Given the description of an element on the screen output the (x, y) to click on. 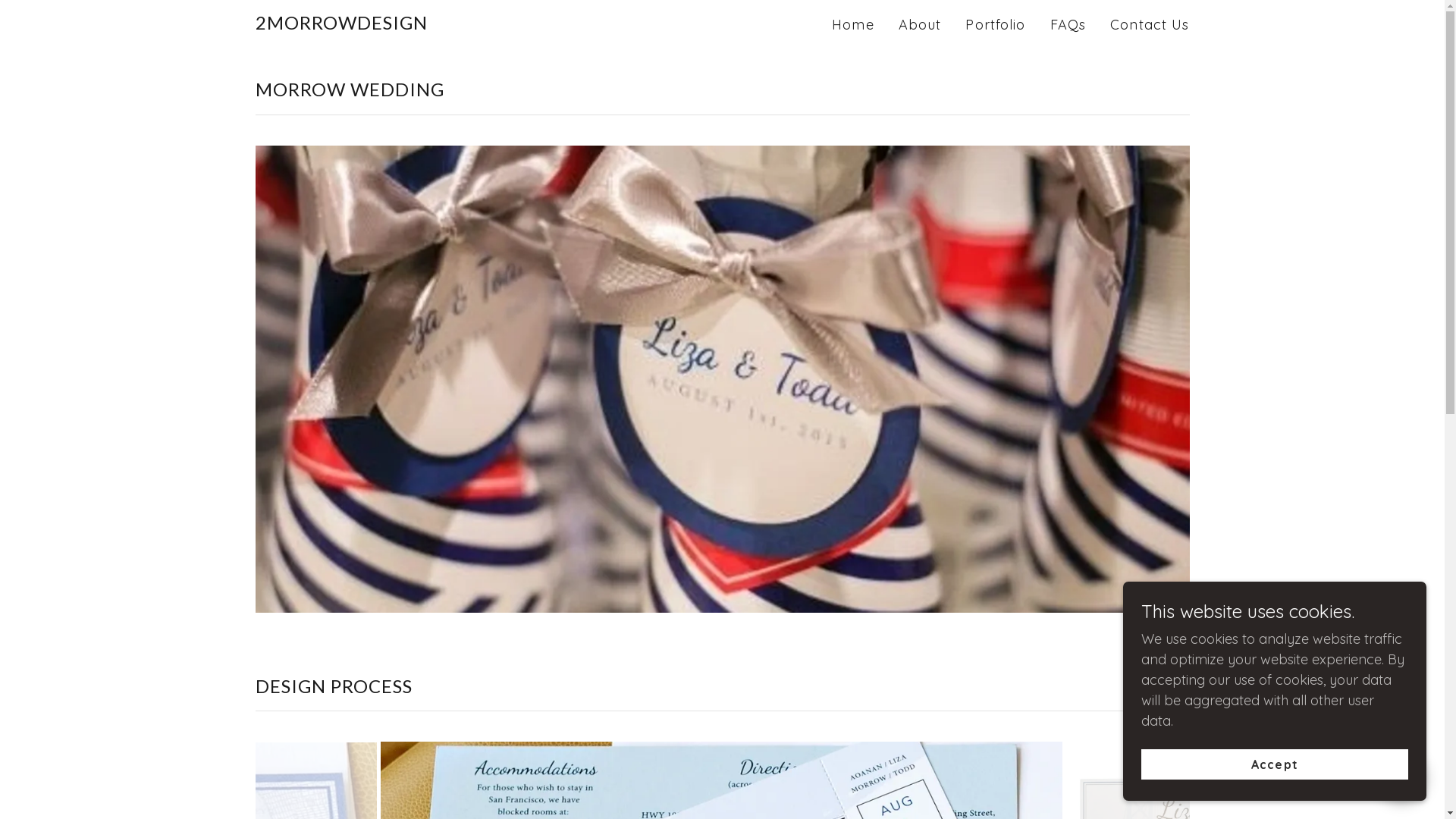
FAQs Element type: text (1068, 24)
2MORROWDESIGN Element type: text (340, 24)
Accept Element type: text (1274, 764)
Contact Us Element type: text (1149, 24)
Portfolio Element type: text (994, 24)
Home Element type: text (852, 24)
About Element type: text (920, 24)
